Given the description of an element on the screen output the (x, y) to click on. 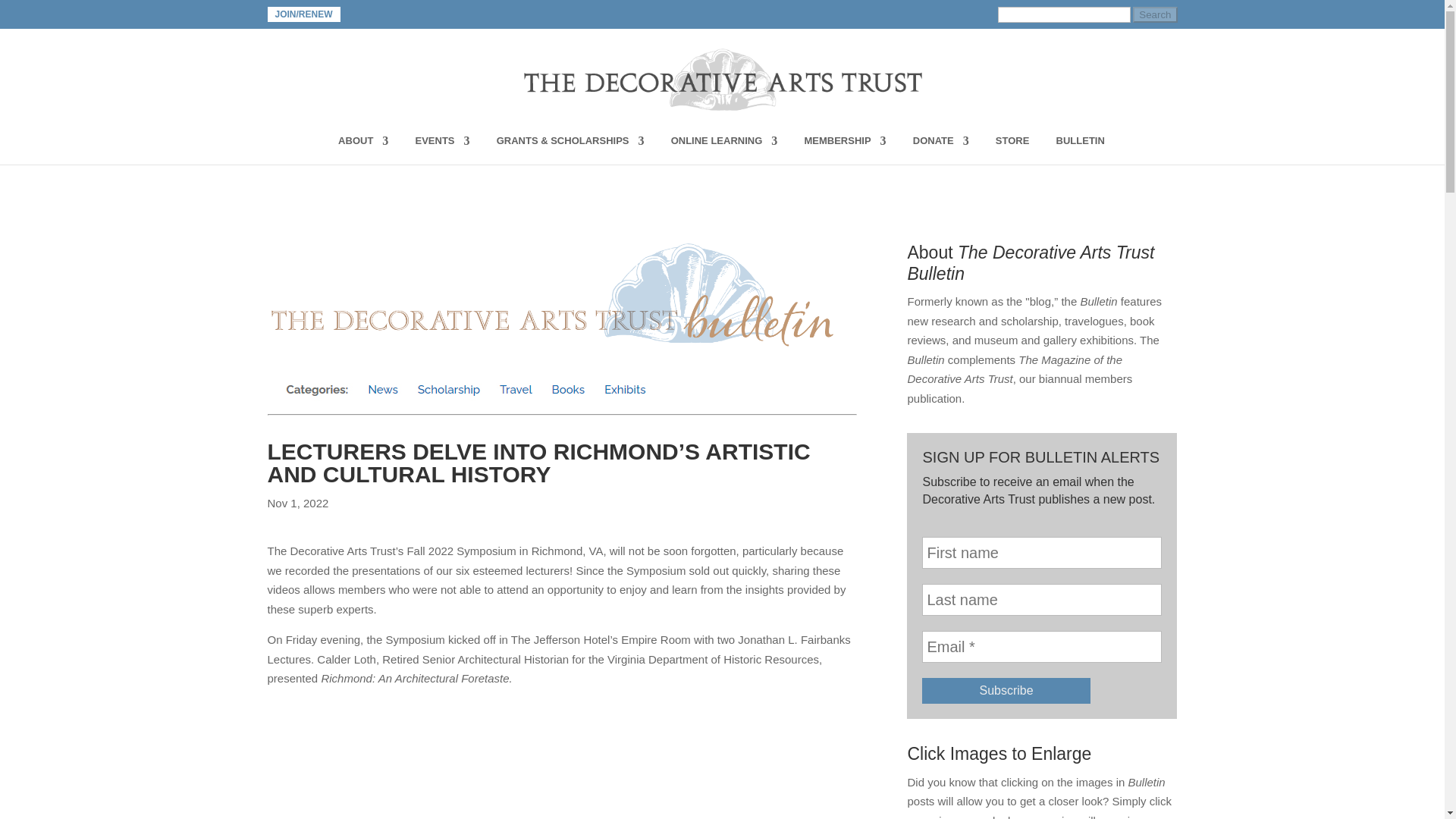
Subscribe (1005, 690)
Last name (1041, 599)
Richmond: An Architectural Foretaste - Calder Loth (561, 766)
ONLINE LEARNING (724, 149)
Search (1154, 14)
First name (1041, 552)
ABOUT (362, 149)
Search (1154, 14)
EVENTS (442, 149)
Email (1041, 646)
